Given the description of an element on the screen output the (x, y) to click on. 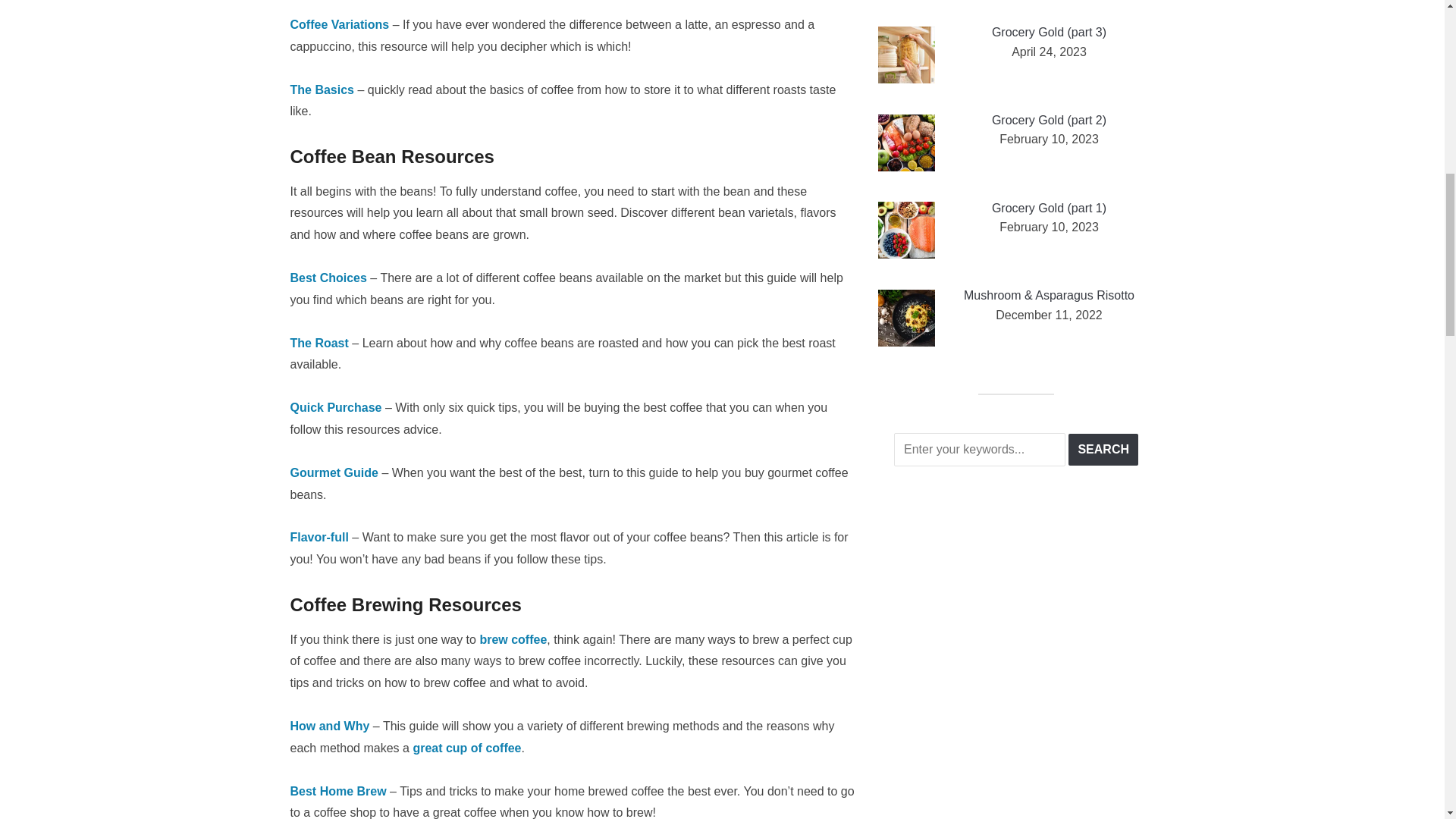
brew coffee (513, 639)
Best Home Brew (337, 790)
Gourmet Guide (333, 472)
Quick Purchase (335, 407)
great cup of coffee (466, 748)
Search (1103, 450)
The Roast (318, 342)
Search (1103, 450)
Flavor-full (318, 536)
Best Choices (327, 277)
